Given the description of an element on the screen output the (x, y) to click on. 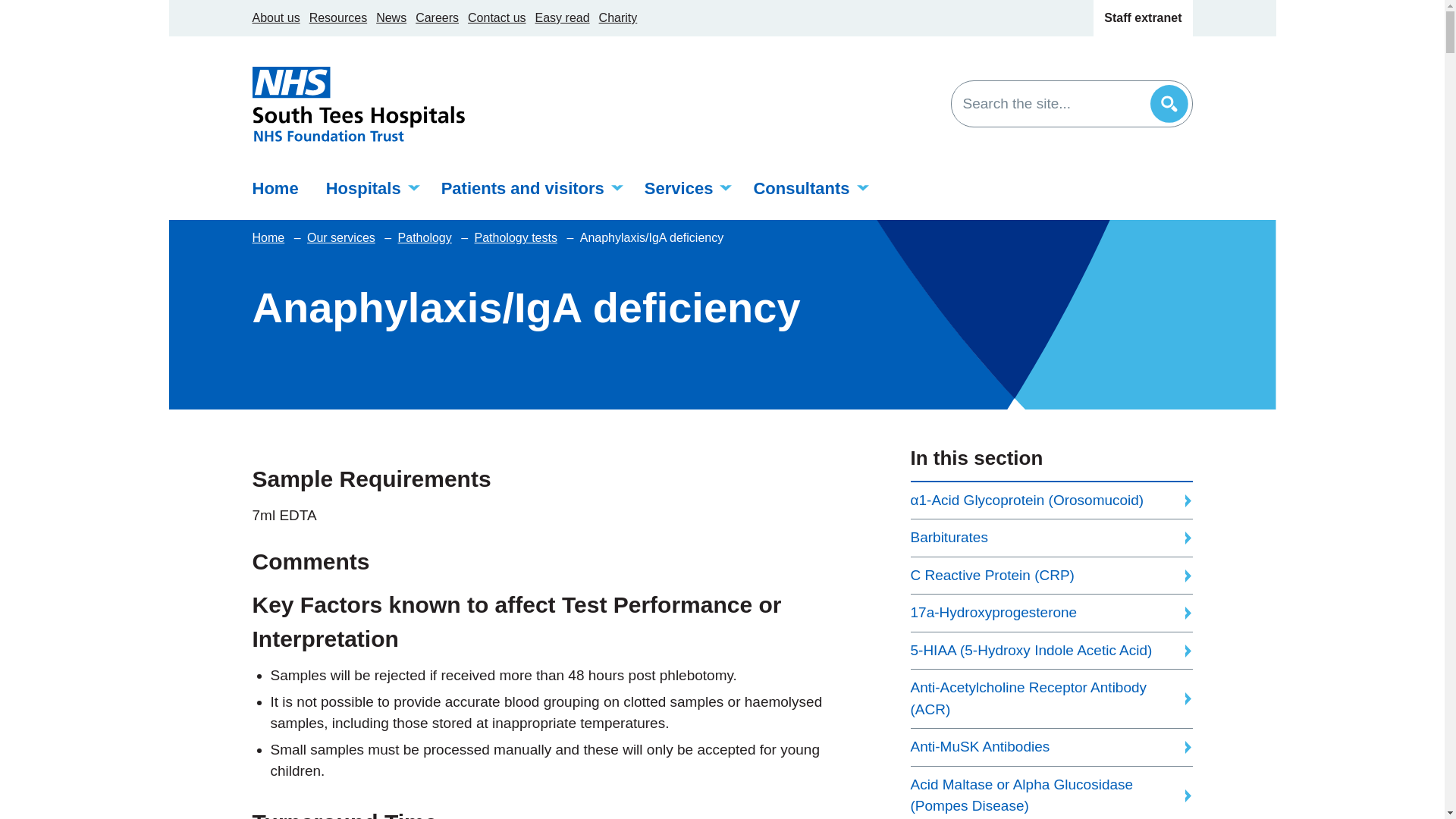
Charity (617, 18)
Hospitals (370, 187)
Resources (337, 18)
Go to Pathology tests. (517, 238)
Go to Our services. (342, 238)
Careers (436, 18)
Patients and visitors (529, 187)
South Tees Hospitals NHS Foundation Trust Homepage (357, 103)
Contact us (496, 18)
Go to South Tees Hospitals NHS Foundation Trust. (268, 238)
